Given the description of an element on the screen output the (x, y) to click on. 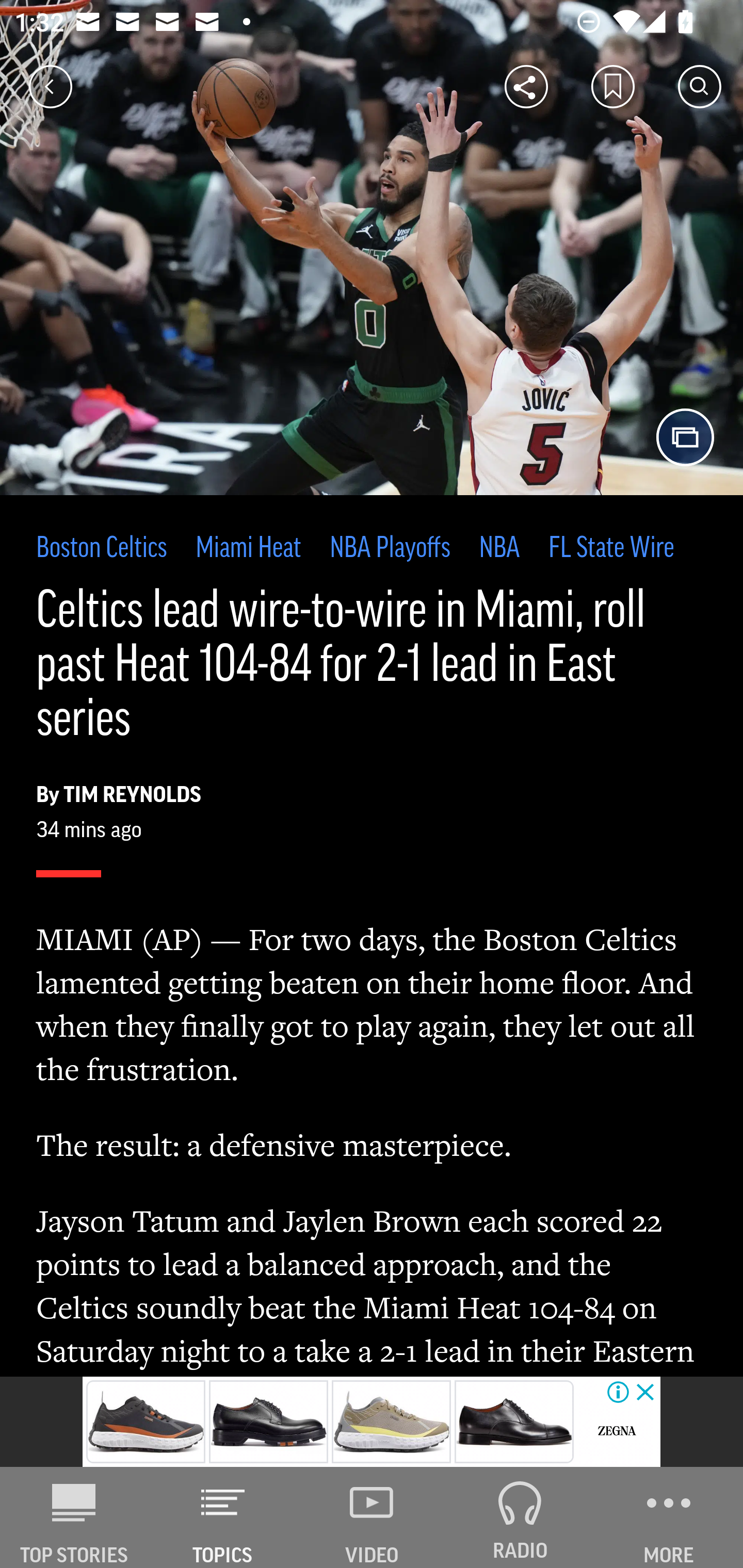
Boston Celtics (101, 549)
Miami Heat (247, 549)
NBA Playoffs (389, 549)
NBA (499, 549)
FL State Wire (610, 549)
AP News TOP STORIES (74, 1517)
TOPICS (222, 1517)
VIDEO (371, 1517)
RADIO (519, 1517)
MORE (668, 1517)
